Given the description of an element on the screen output the (x, y) to click on. 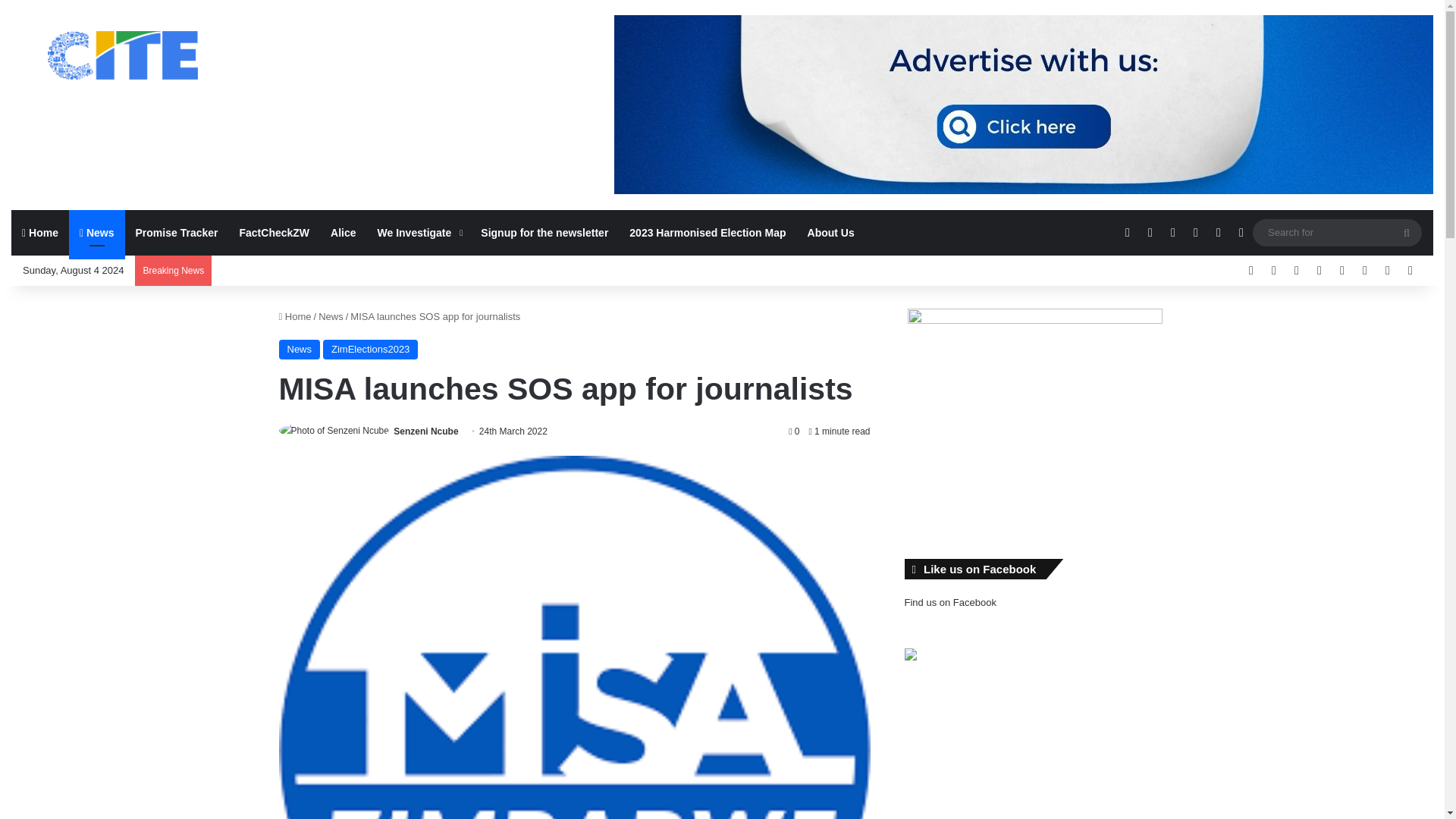
Senzeni Ncube (425, 430)
FactCheckZW (274, 232)
Signup for the newsletter (544, 232)
About Us (830, 232)
Promise Tracker (176, 232)
2023 Harmonised Election Map (707, 232)
Search for (1337, 231)
News (96, 232)
Search for (1406, 232)
Alice (343, 232)
